Given the description of an element on the screen output the (x, y) to click on. 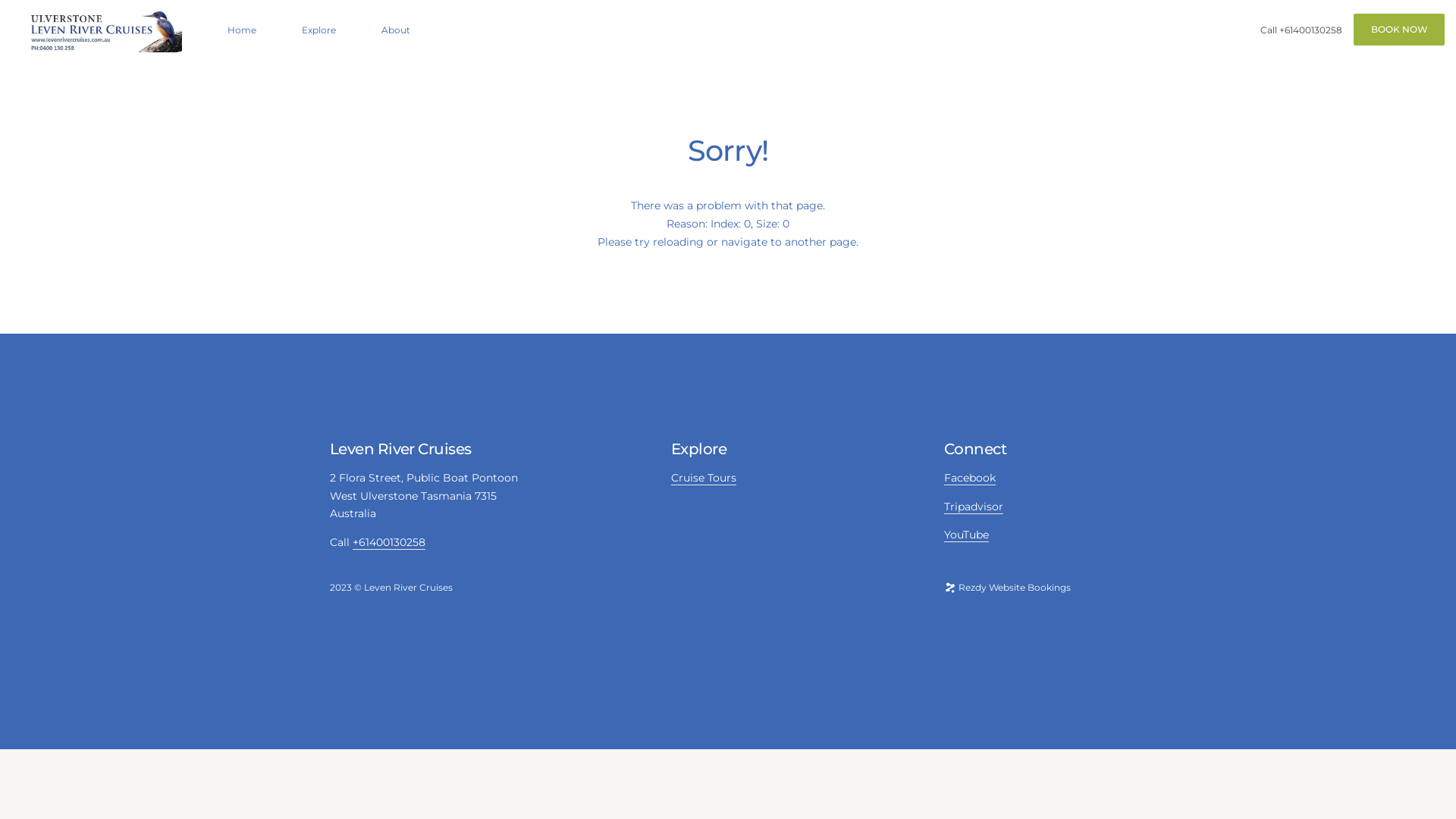
+61400130258 Element type: text (388, 542)
About Element type: text (395, 30)
Tripadvisor Element type: text (973, 506)
+61400130258 Element type: text (1310, 29)
Cruise Tours Element type: text (703, 477)
YouTube Element type: text (966, 534)
Rezdy Website Bookings Element type: text (1007, 587)
Explore Element type: text (318, 30)
Home Element type: text (241, 30)
BOOK NOW Element type: text (1398, 29)
Facebook Element type: text (969, 477)
